Given the description of an element on the screen output the (x, y) to click on. 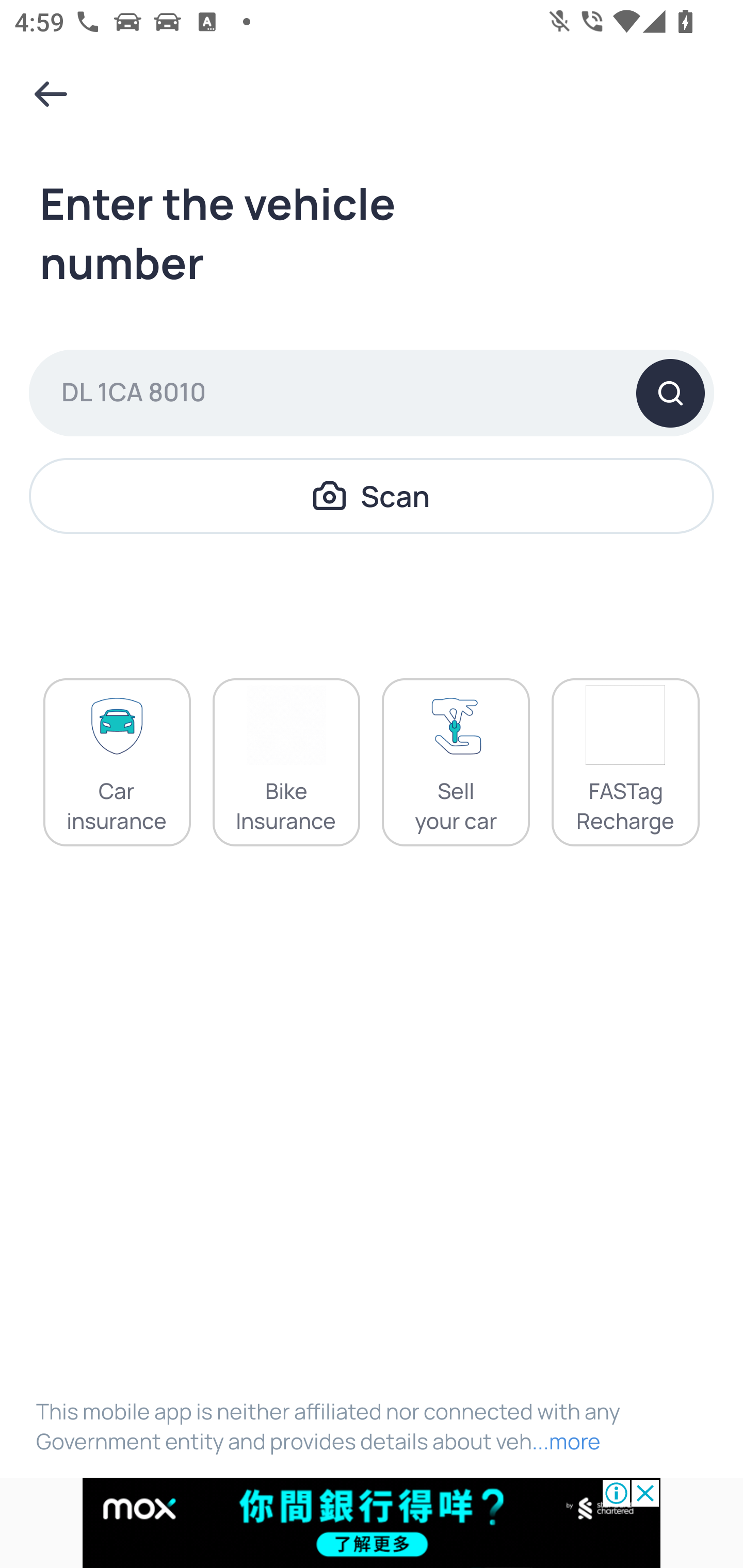
Navigate up (50, 93)
DL 1CA 8010 (371, 392)
Scan (371, 495)
Car
insurance (116, 762)
Bike
Insurance (286, 762)
Sell
your car (455, 762)
FASTag Recharge (625, 762)
